Given the description of an element on the screen output the (x, y) to click on. 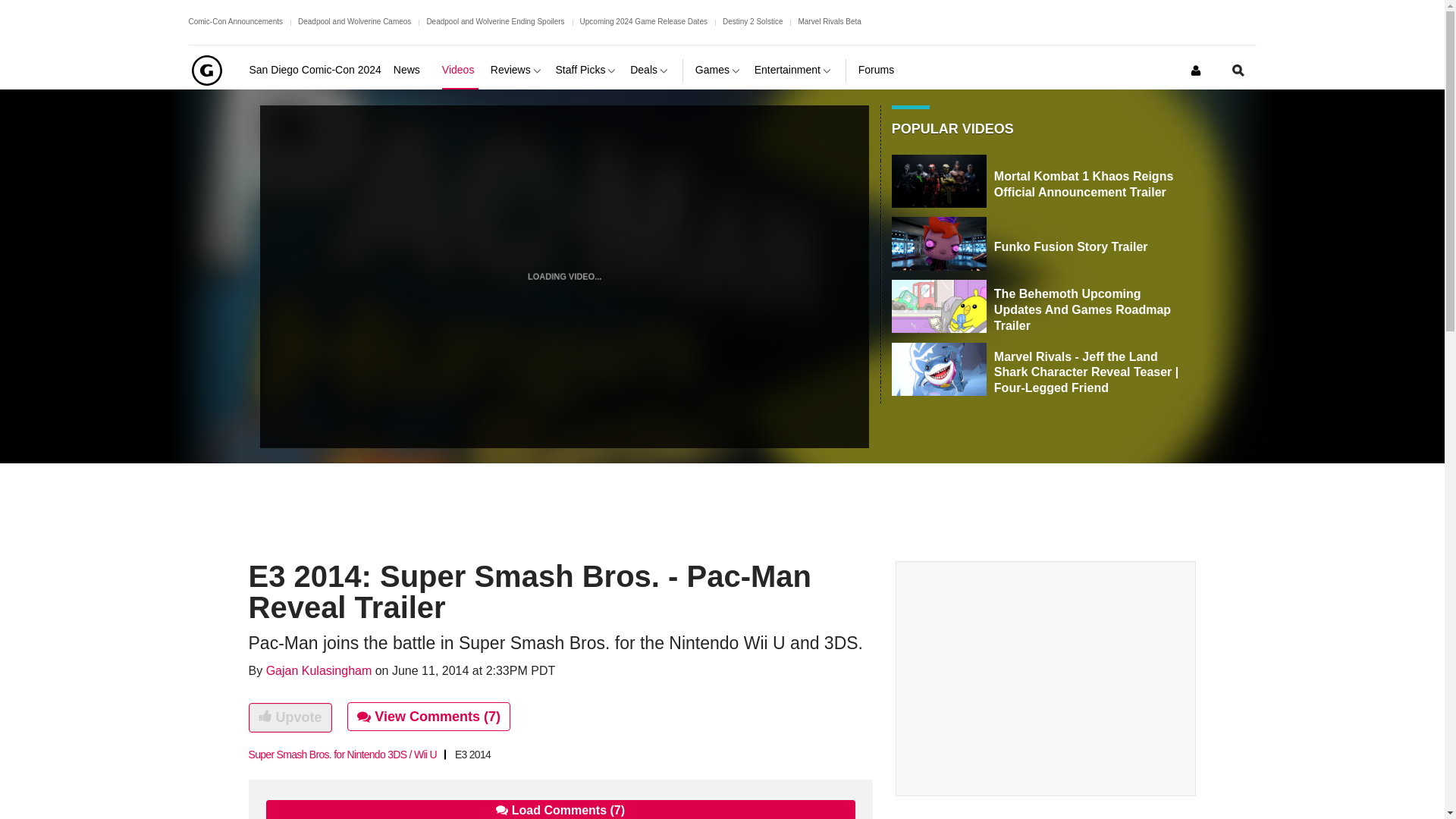
Deals (649, 70)
Staff Picks (587, 70)
San Diego Comic-Con 2024 (314, 70)
Videos (460, 70)
Destiny 2 Solstice (752, 21)
Deadpool and Wolverine Cameos (354, 21)
Reviews (516, 70)
Games (718, 70)
Comic-Con Announcements (234, 21)
Upcoming 2024 Game Release Dates (643, 21)
News (411, 70)
Marvel Rivals Beta (828, 21)
GameSpot (205, 70)
Deadpool and Wolverine Ending Spoilers (495, 21)
